Given the description of an element on the screen output the (x, y) to click on. 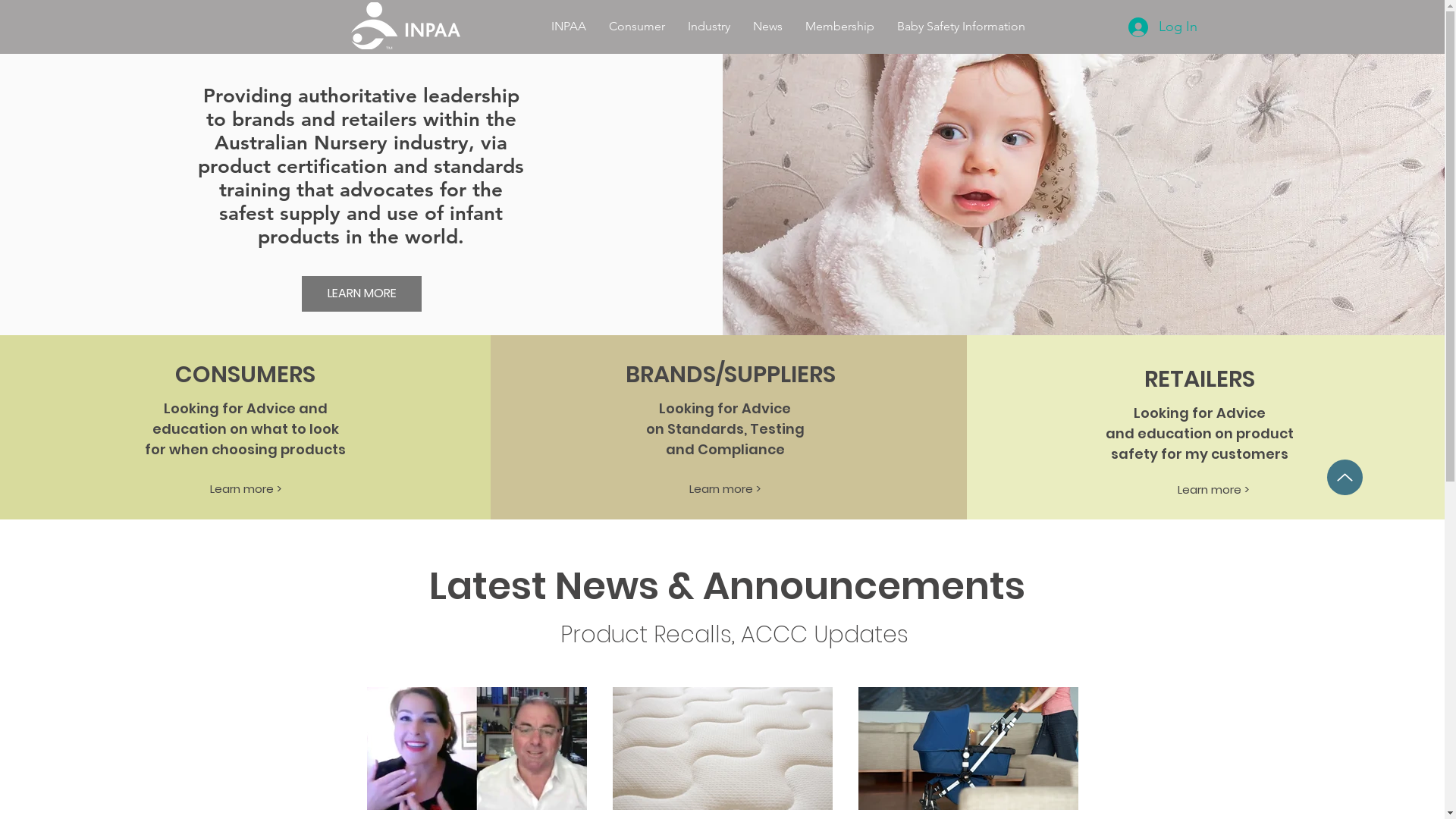
Baby Safety Information Element type: text (960, 26)
Learn more > Element type: text (725, 488)
CONSUMERS Element type: text (245, 374)
Industry Element type: text (708, 26)
Log In Element type: text (1162, 26)
LEARN MORE Element type: text (361, 293)
News Element type: text (767, 26)
Learn more > Element type: text (1212, 488)
BRANDS/SUPPLIERS Element type: text (730, 374)
Membership Element type: text (839, 26)
INPAA Element type: text (568, 26)
RETAILERS Element type: text (1198, 378)
Consumer Element type: text (636, 26)
Learn more > Element type: text (245, 488)
